Given the description of an element on the screen output the (x, y) to click on. 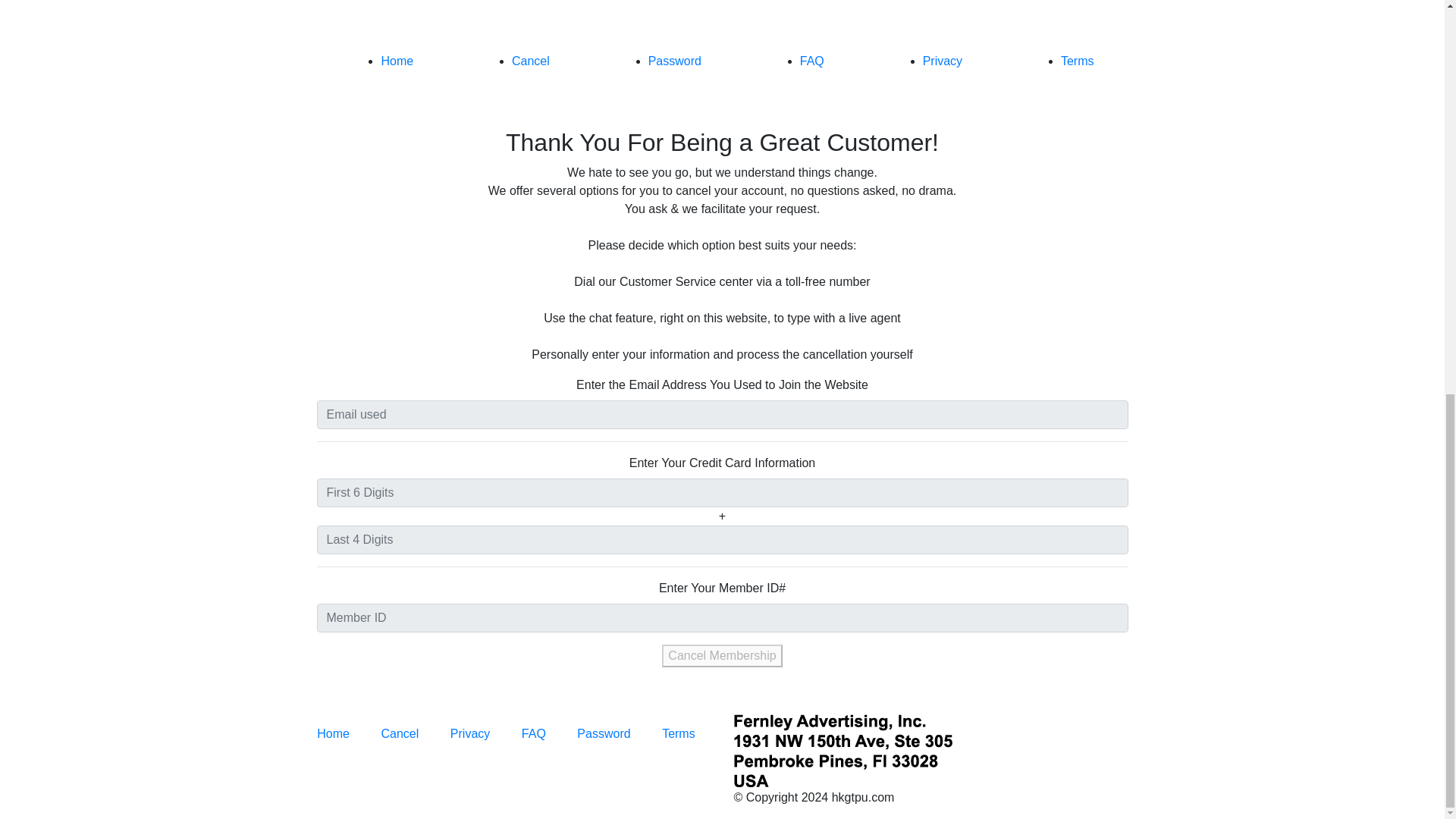
Terms (1077, 60)
FAQ (811, 60)
Privacy (469, 733)
Terms (678, 733)
Home (333, 733)
FAQ (533, 733)
Home (396, 60)
Password (603, 733)
Cancel (531, 60)
Cancel Membership (721, 655)
